Given the description of an element on the screen output the (x, y) to click on. 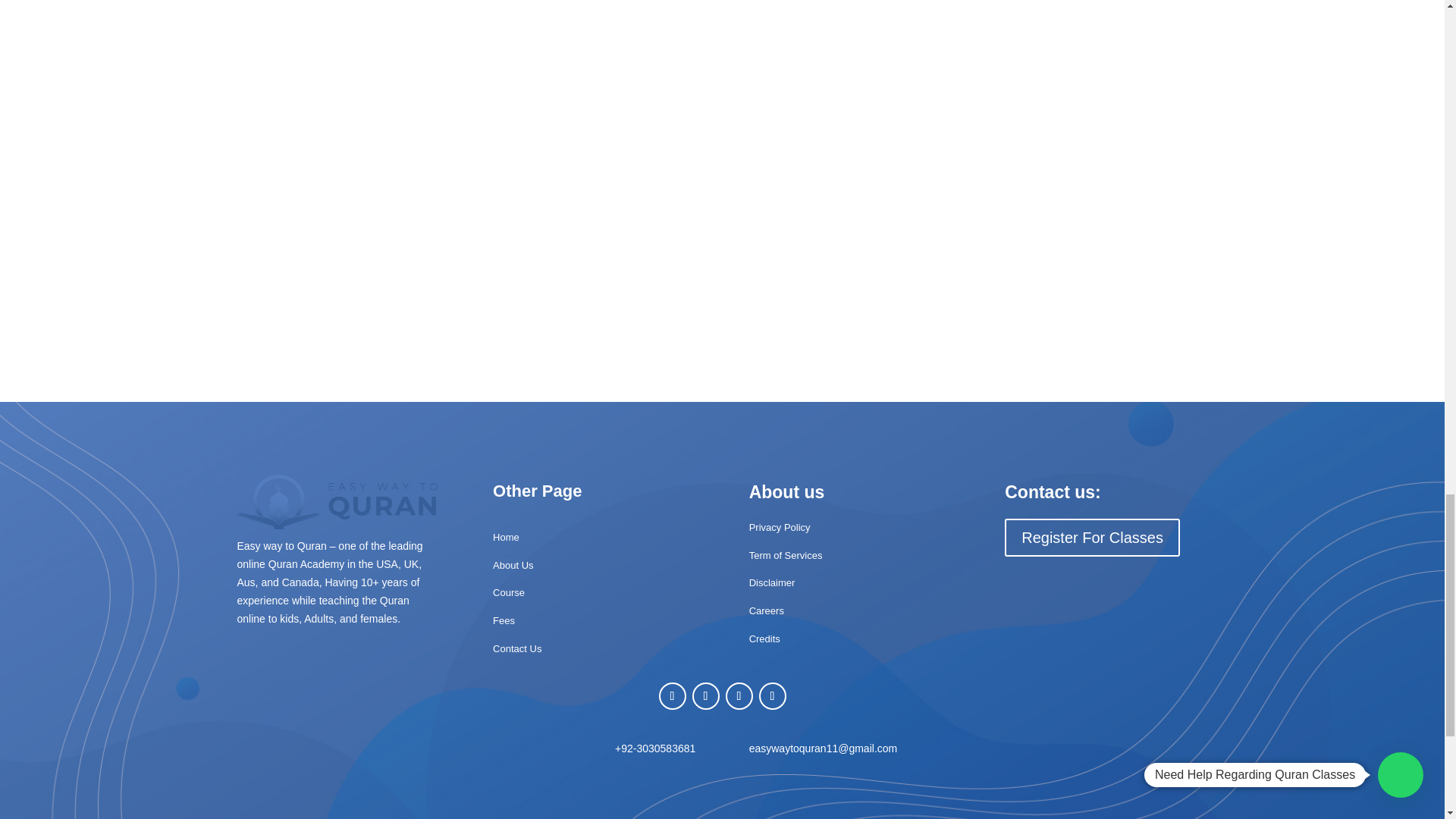
Follow on X (705, 696)
Logo-Design-Final-for-Web (337, 502)
Follow on Instagram (738, 696)
Follow on Facebook (671, 696)
Follow on Youtube (772, 696)
